Given the description of an element on the screen output the (x, y) to click on. 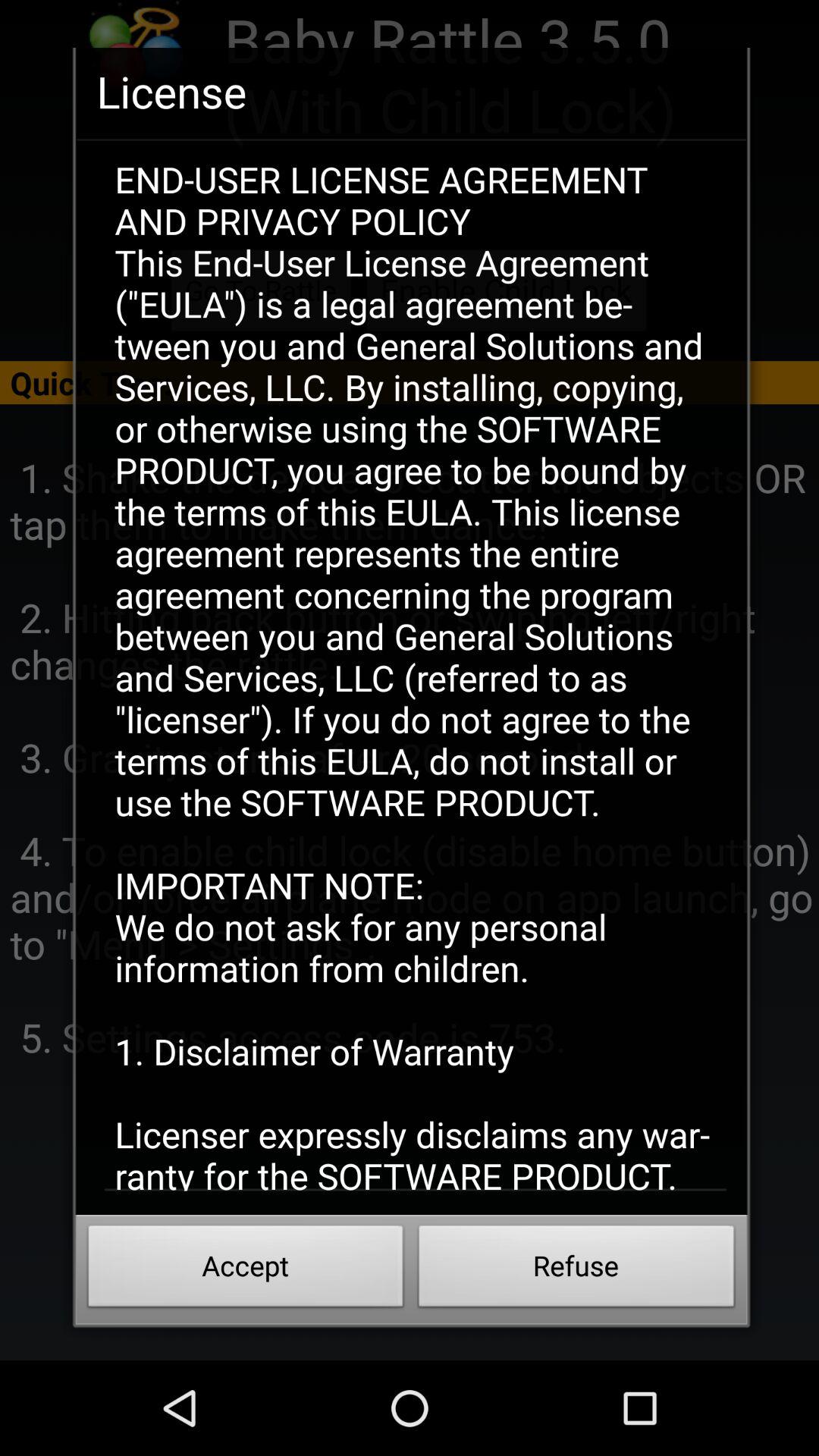
turn off refuse at the bottom right corner (576, 1270)
